Given the description of an element on the screen output the (x, y) to click on. 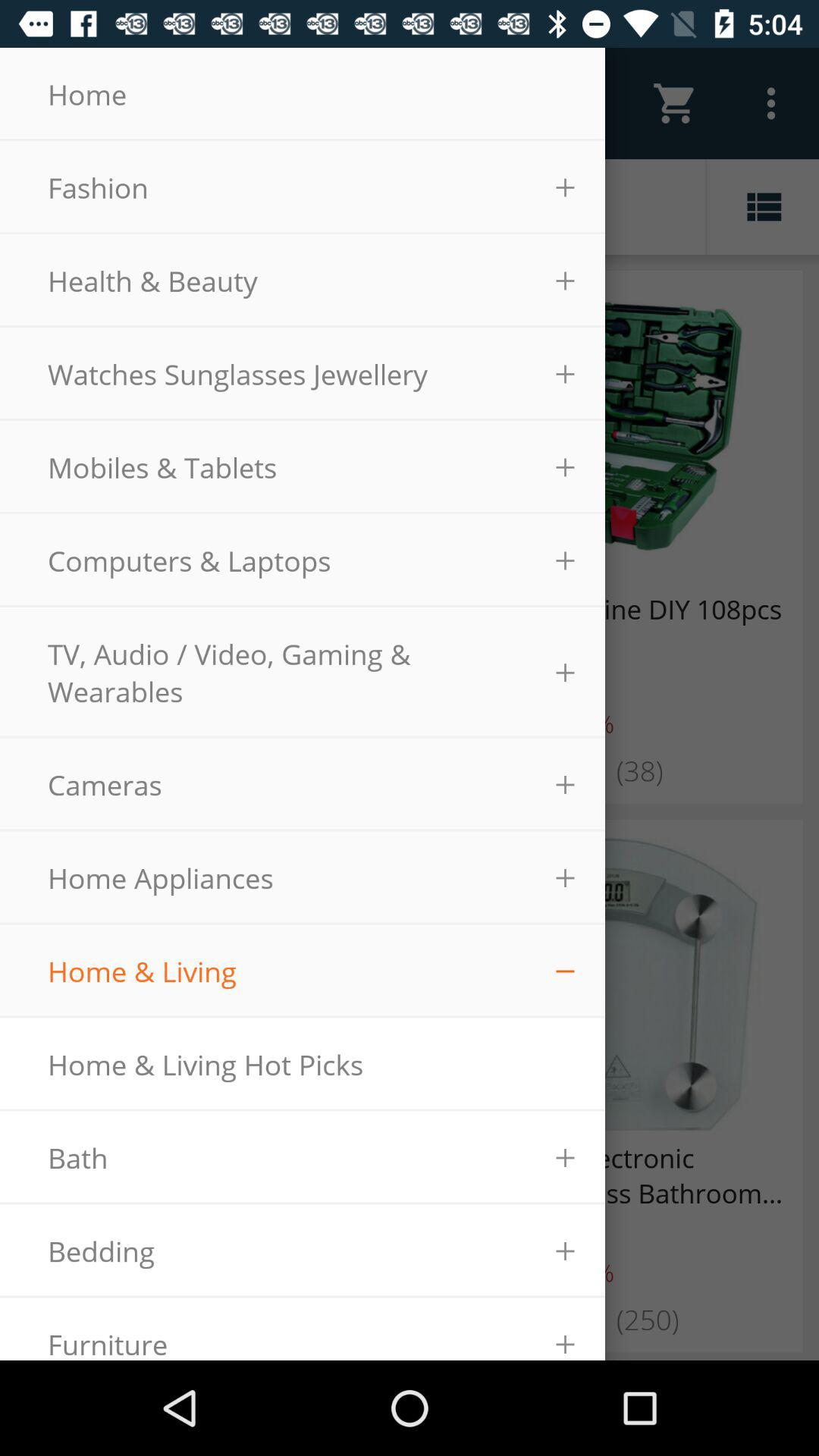
select options (771, 103)
select the icon which is right to bedding (565, 1250)
select the icon which is right to home appliances (565, 877)
